Given the description of an element on the screen output the (x, y) to click on. 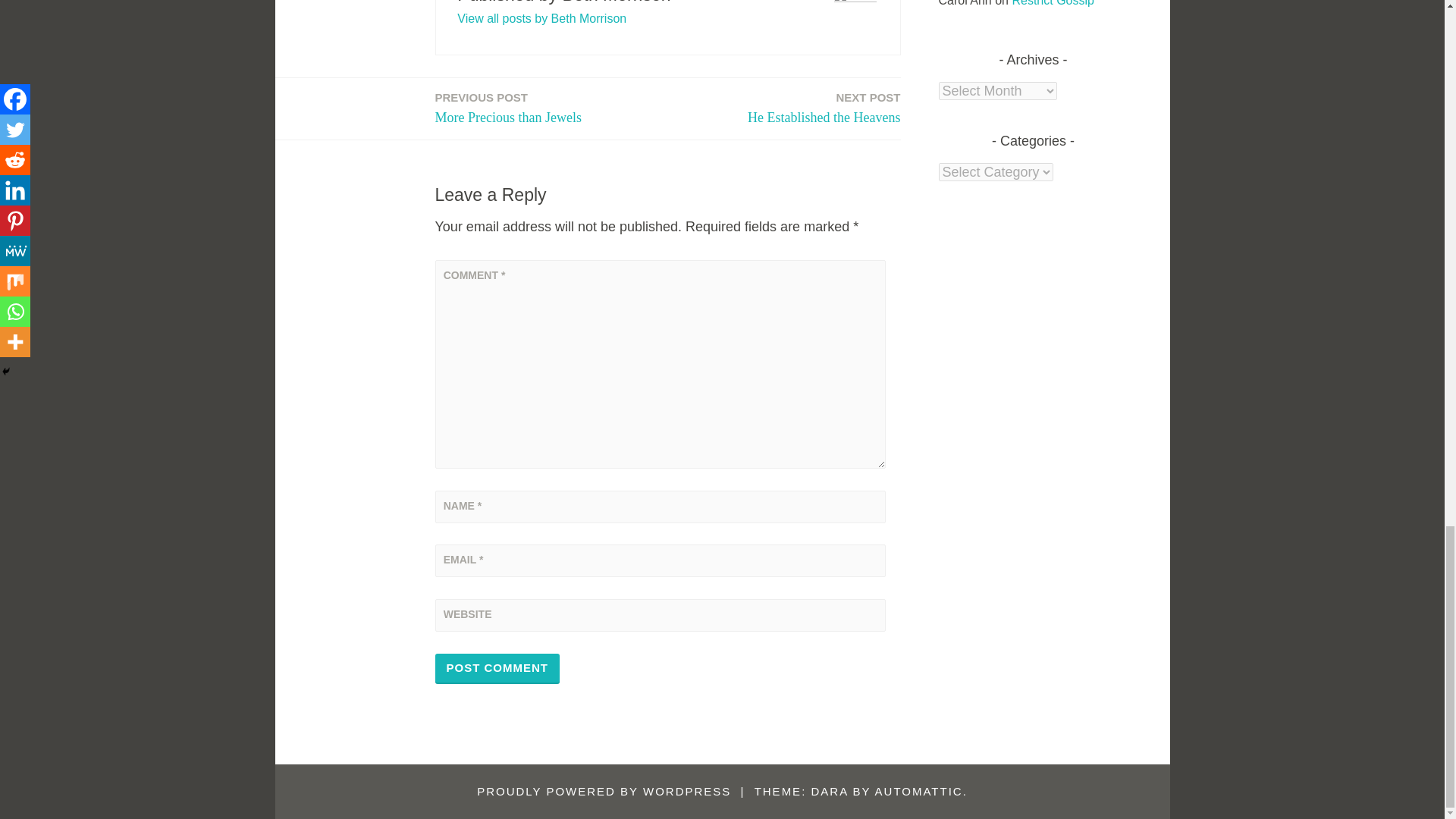
View all posts by Beth Morrison (541, 18)
Post Comment (497, 668)
Post Comment (823, 108)
